Given the description of an element on the screen output the (x, y) to click on. 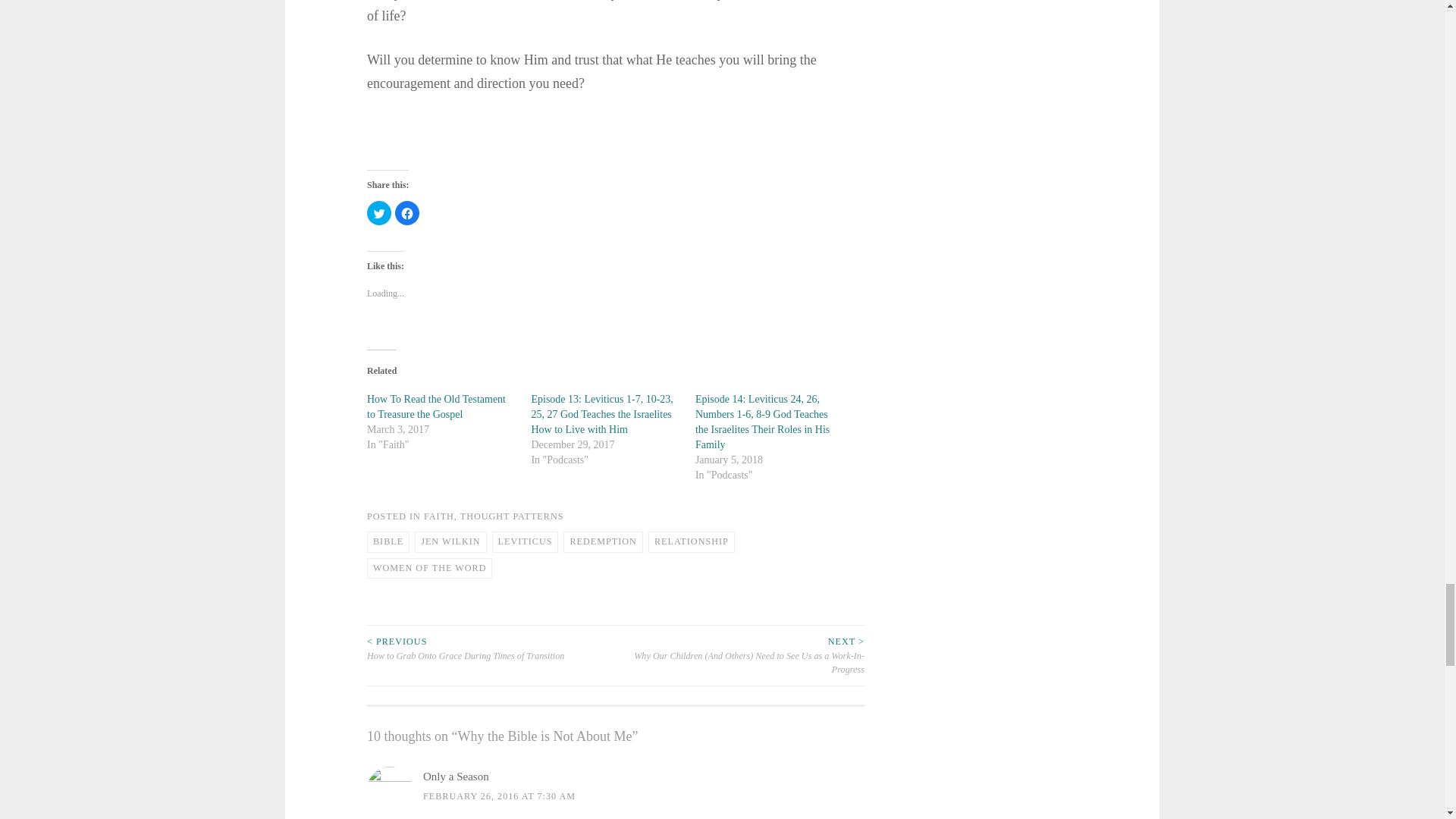
FEBRUARY 26, 2016 AT 7:30 AM (499, 796)
REDEMPTION (602, 541)
WOMEN OF THE WORD (429, 568)
THOUGHT PATTERNS (512, 516)
LEVITICUS (525, 541)
How To Read the Old Testament to Treasure the Gospel (435, 406)
Click to share on Twitter (378, 212)
Click to share on Facebook (406, 212)
How To Read the Old Testament to Treasure the Gospel (435, 406)
